Given the description of an element on the screen output the (x, y) to click on. 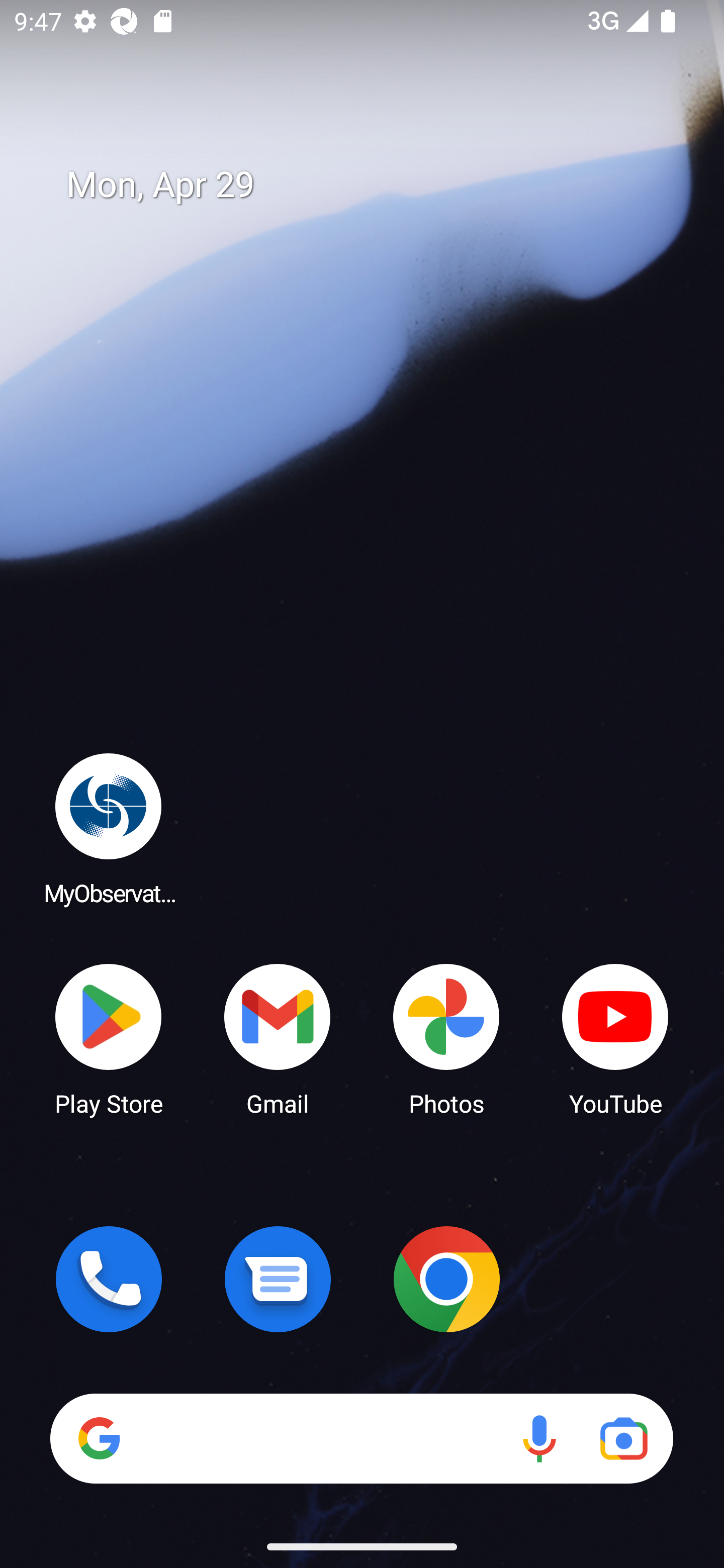
Mon, Apr 29 (375, 184)
MyObservatory (108, 828)
Play Store (108, 1038)
Gmail (277, 1038)
Photos (445, 1038)
YouTube (615, 1038)
Phone (108, 1279)
Messages (277, 1279)
Chrome (446, 1279)
Voice search (539, 1438)
Google Lens (623, 1438)
